Given the description of an element on the screen output the (x, y) to click on. 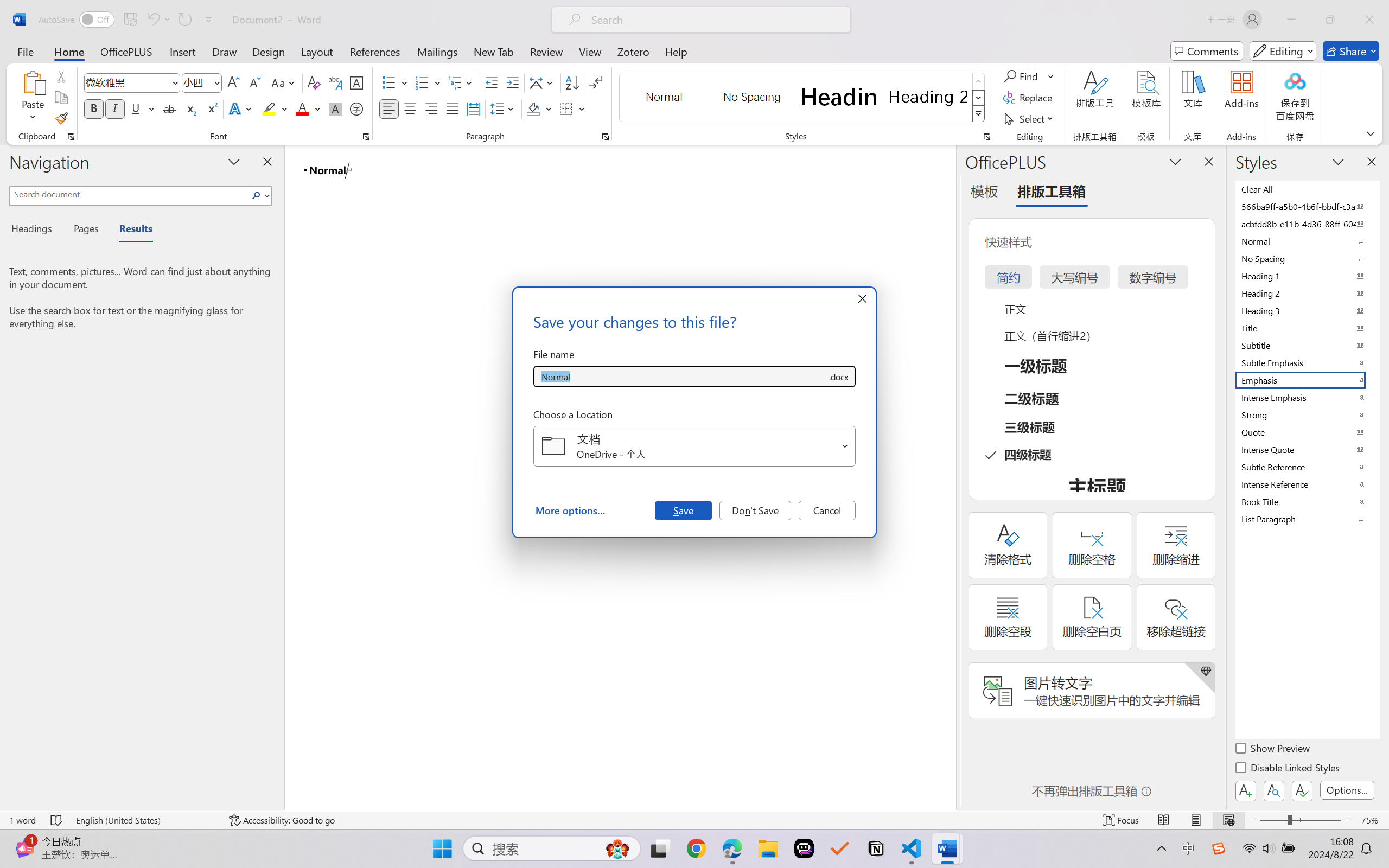
Paste (33, 81)
Shading RGB(0, 0, 0) (533, 108)
Multilevel List (461, 82)
Show Preview (1273, 749)
Text Highlight Color Yellow (269, 108)
Customize Quick Access Toolbar (208, 19)
Read Mode (1163, 819)
Pages (85, 229)
Borders (571, 108)
